Given the description of an element on the screen output the (x, y) to click on. 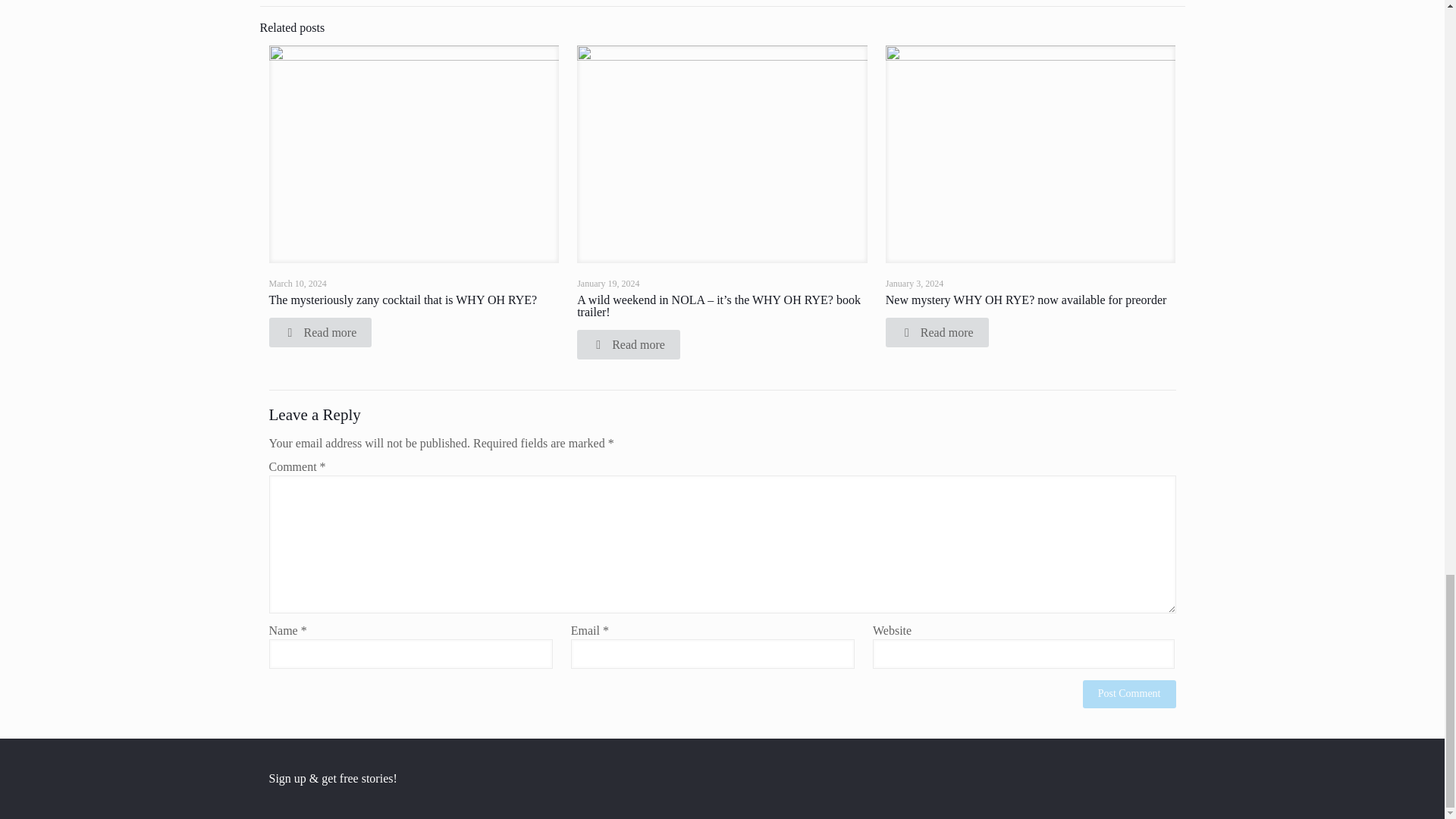
Post Comment (1129, 694)
